Given the description of an element on the screen output the (x, y) to click on. 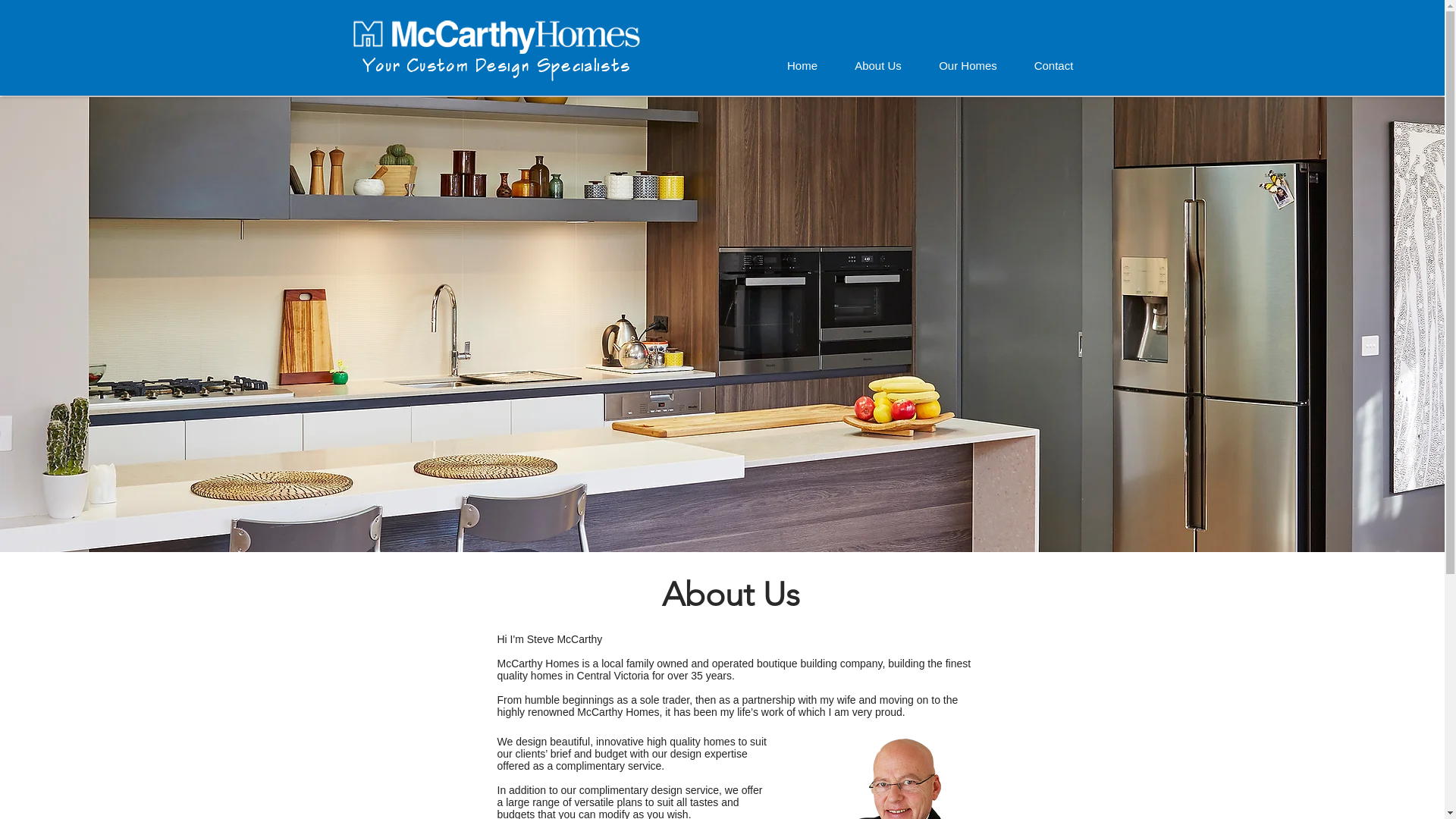
About Us Element type: text (877, 65)
Our Homes Element type: text (968, 65)
Contact Element type: text (1054, 65)
Home Element type: text (802, 65)
